Given the description of an element on the screen output the (x, y) to click on. 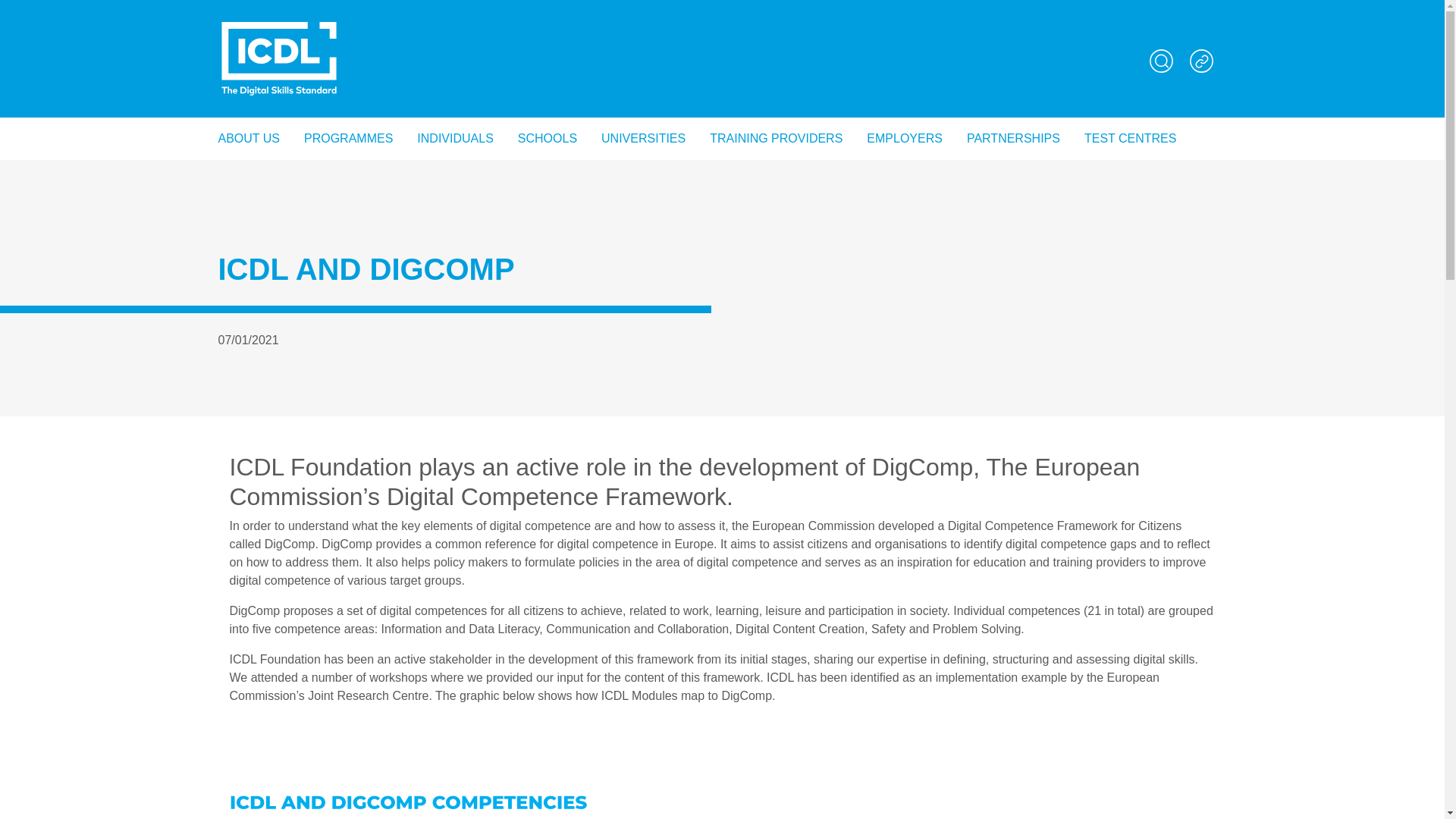
TEST CENTRES (1130, 71)
EMPLOYERS (904, 71)
UNIVERSITIES (643, 71)
TRAINING PROVIDERS (775, 71)
PARTNERSHIPS (1013, 71)
ABOUT US (255, 71)
ICDL Global (278, 24)
SCHOOLS (547, 71)
INDIVIDUALS (454, 71)
PROGRAMMES (348, 71)
